Given the description of an element on the screen output the (x, y) to click on. 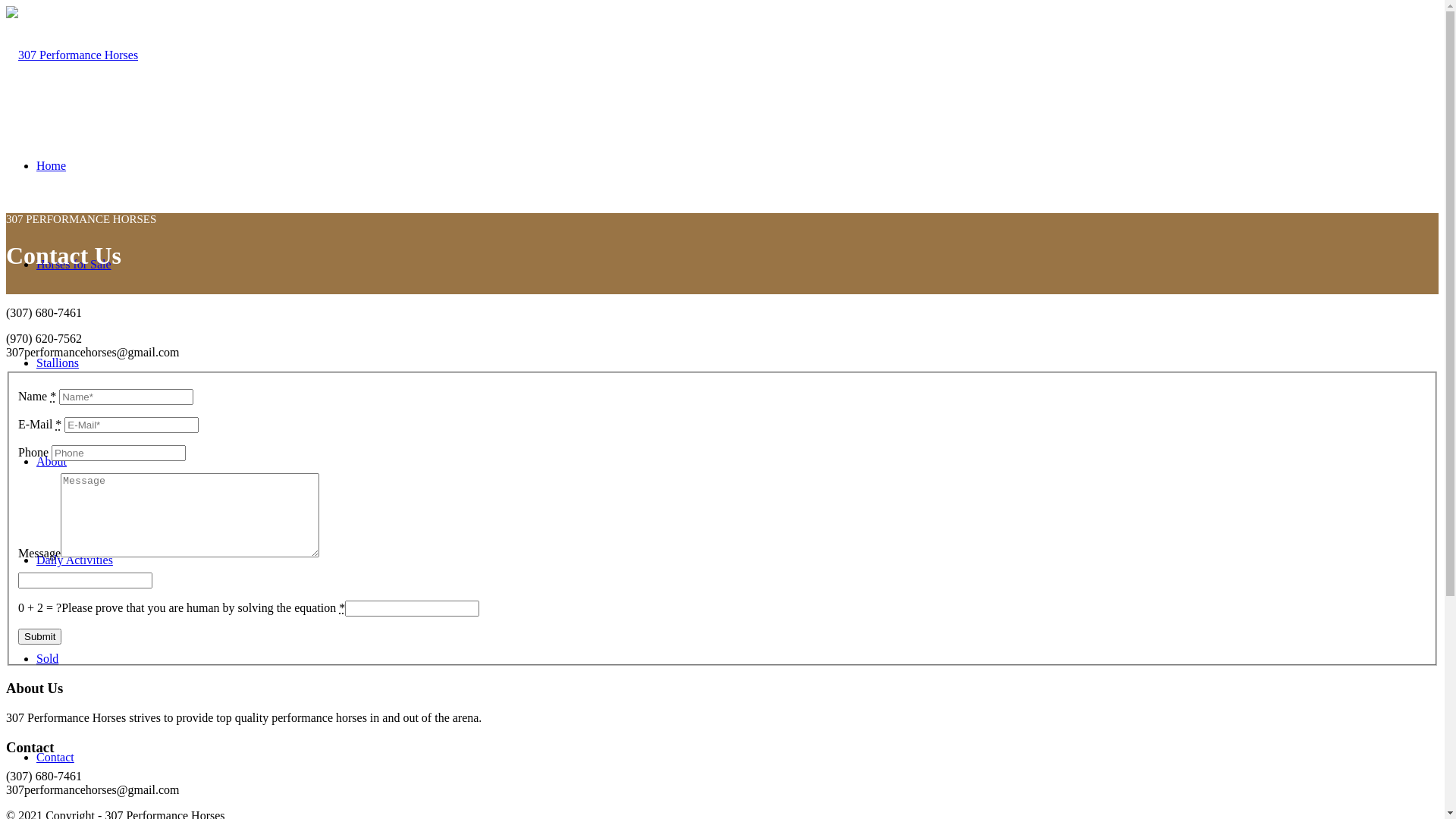
Home Element type: text (50, 165)
Daily Activities Element type: text (74, 559)
About Element type: text (51, 461)
Sold Element type: text (47, 658)
Contact Element type: text (55, 756)
Stallions Element type: text (57, 362)
Submit Element type: text (39, 636)
Horses for Sale Element type: text (73, 263)
